Given the description of an element on the screen output the (x, y) to click on. 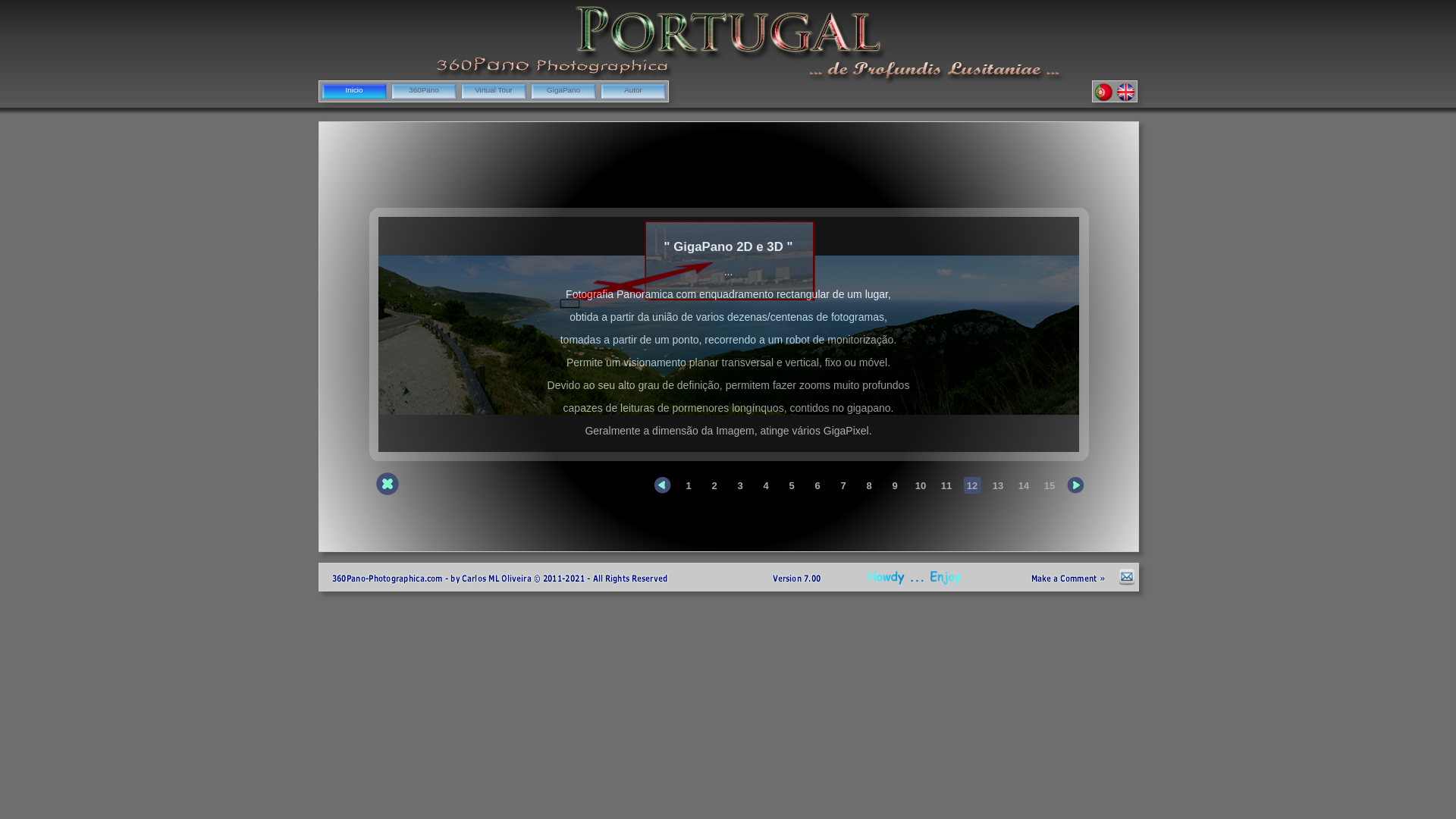
10 Element type: text (921, 485)
Autor Element type: text (632, 91)
14 Element type: text (1024, 485)
Send Feedback Element type: hover (1126, 585)
3 Element type: text (740, 485)
2 Element type: text (715, 485)
5 Element type: text (792, 485)
7 Element type: text (843, 485)
GigaPano Element type: text (563, 91)
4 Element type: text (766, 485)
9 Element type: text (895, 485)
360Pano Element type: text (423, 91)
Virtual Tour Element type: text (493, 91)
13 Element type: text (998, 485)
Info Element type: text (387, 483)
15 Element type: text (1050, 485)
6 Element type: text (818, 485)
11 Element type: text (947, 485)
Inicio Element type: text (353, 91)
12 Element type: text (972, 485)
8 Element type: text (869, 485)
1 Element type: text (689, 485)
